Given the description of an element on the screen output the (x, y) to click on. 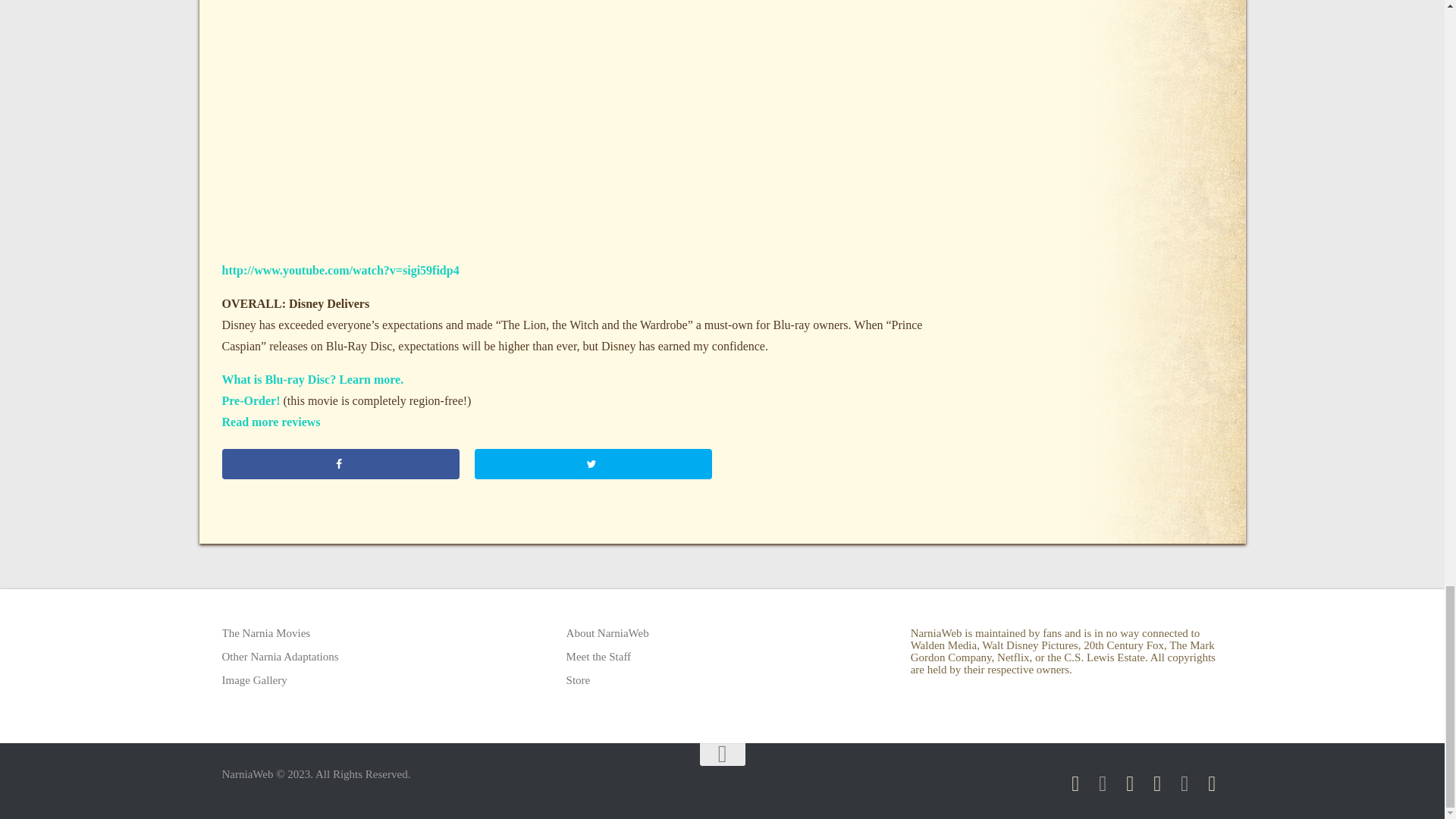
NarniaWeb on Facebook (1075, 783)
Share on Twitter (593, 463)
Share on Facebook (340, 463)
